Given the description of an element on the screen output the (x, y) to click on. 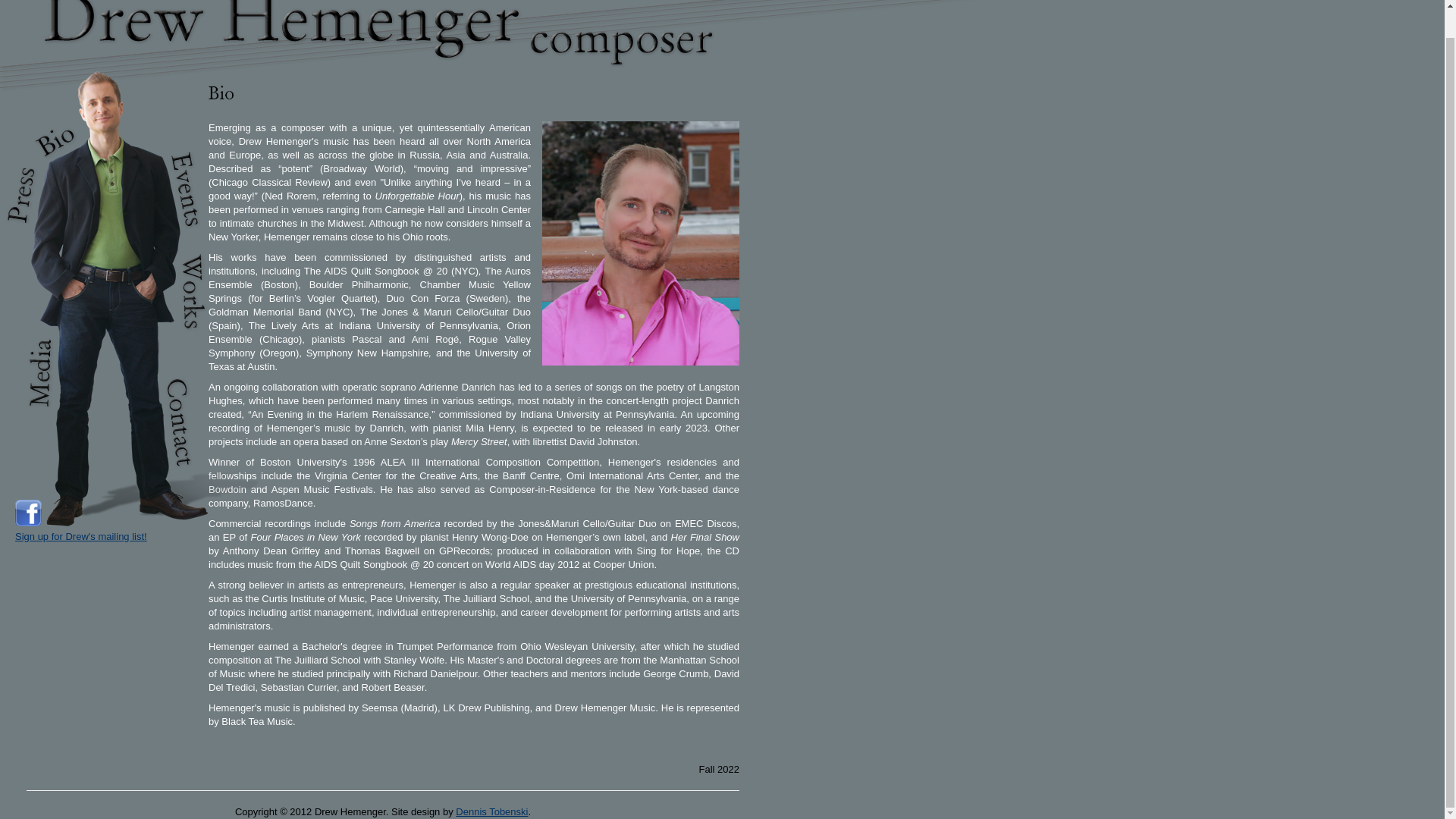
Sign up for Drew's mailing list! (80, 536)
Dennis Tobenski (491, 811)
